Given the description of an element on the screen output the (x, y) to click on. 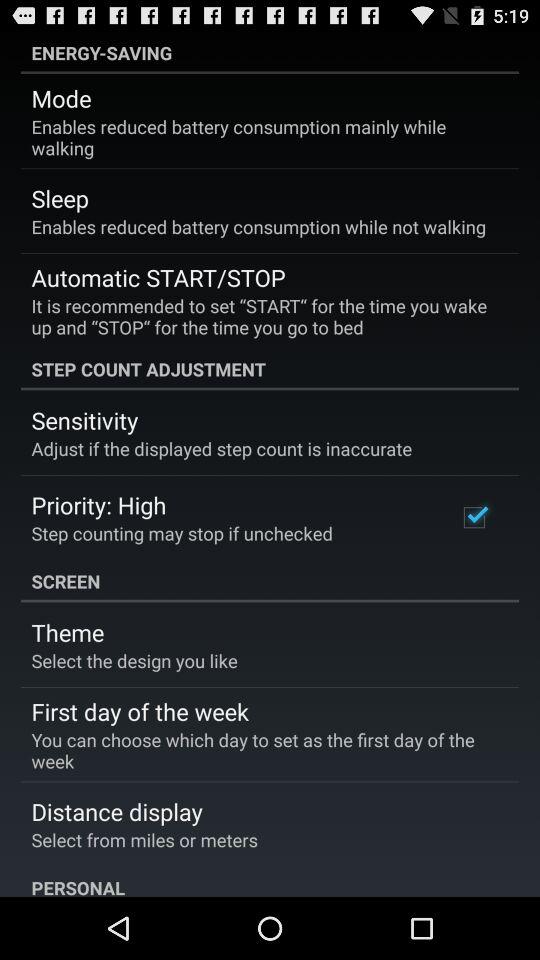
press the theme item (67, 632)
